Given the description of an element on the screen output the (x, y) to click on. 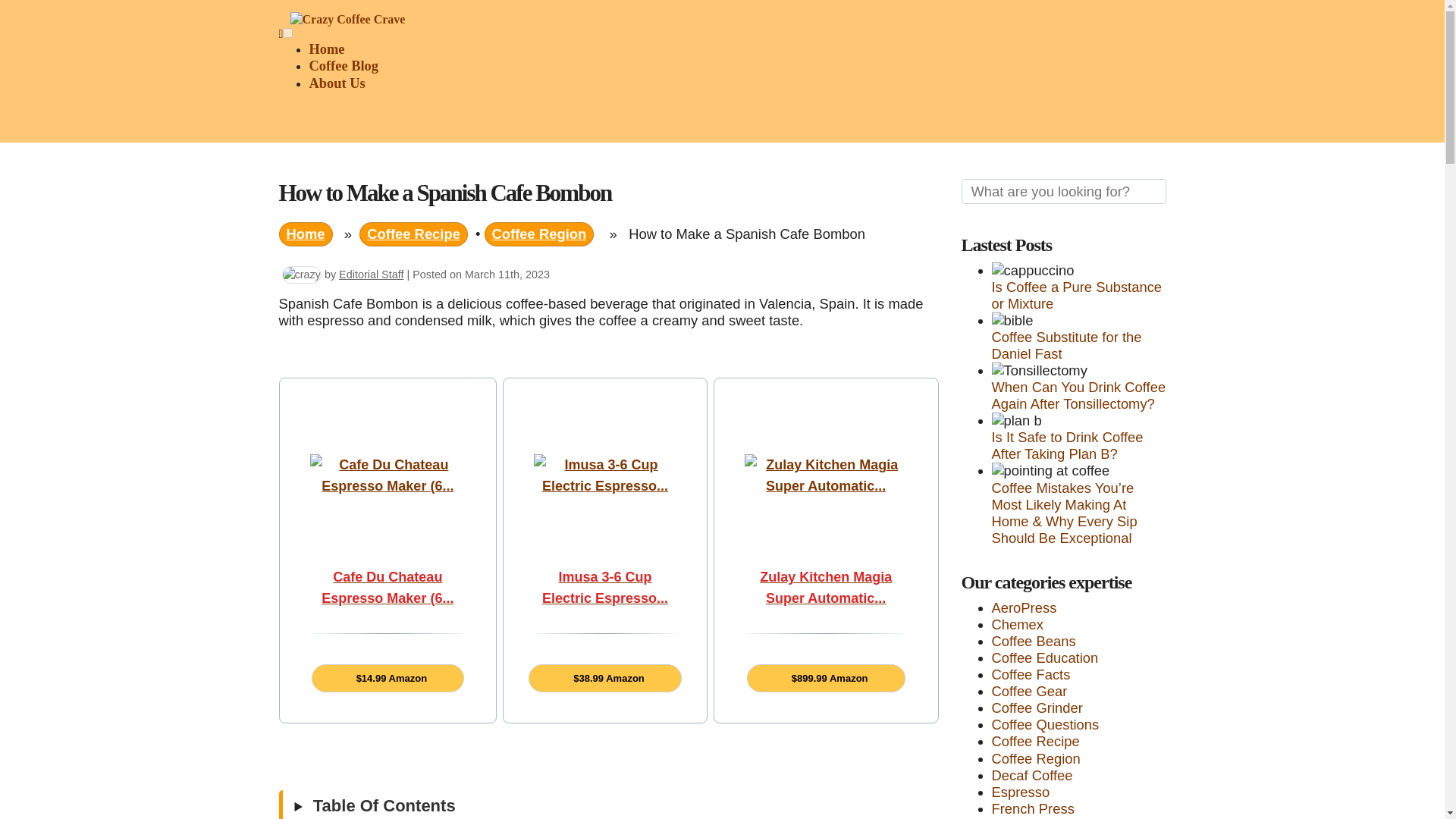
Is It Safe to Drink Coffee After Taking Plan B? (1066, 445)
on (287, 32)
crazy (301, 275)
AeroPress (1024, 607)
Home (306, 233)
Coffee Beans (1033, 641)
Is Coffee a Pure Substance or Mixture (1076, 295)
Coffee Education (1045, 657)
Chemex (1017, 624)
Coffee Region (539, 233)
Coffee Substitute for the Daniel Fast (1066, 345)
Coffee Blog (343, 65)
When Can You Drink Coffee Again After Tonsillectomy? (1078, 395)
About Us (336, 83)
Coffee Recipe (413, 233)
